Given the description of an element on the screen output the (x, y) to click on. 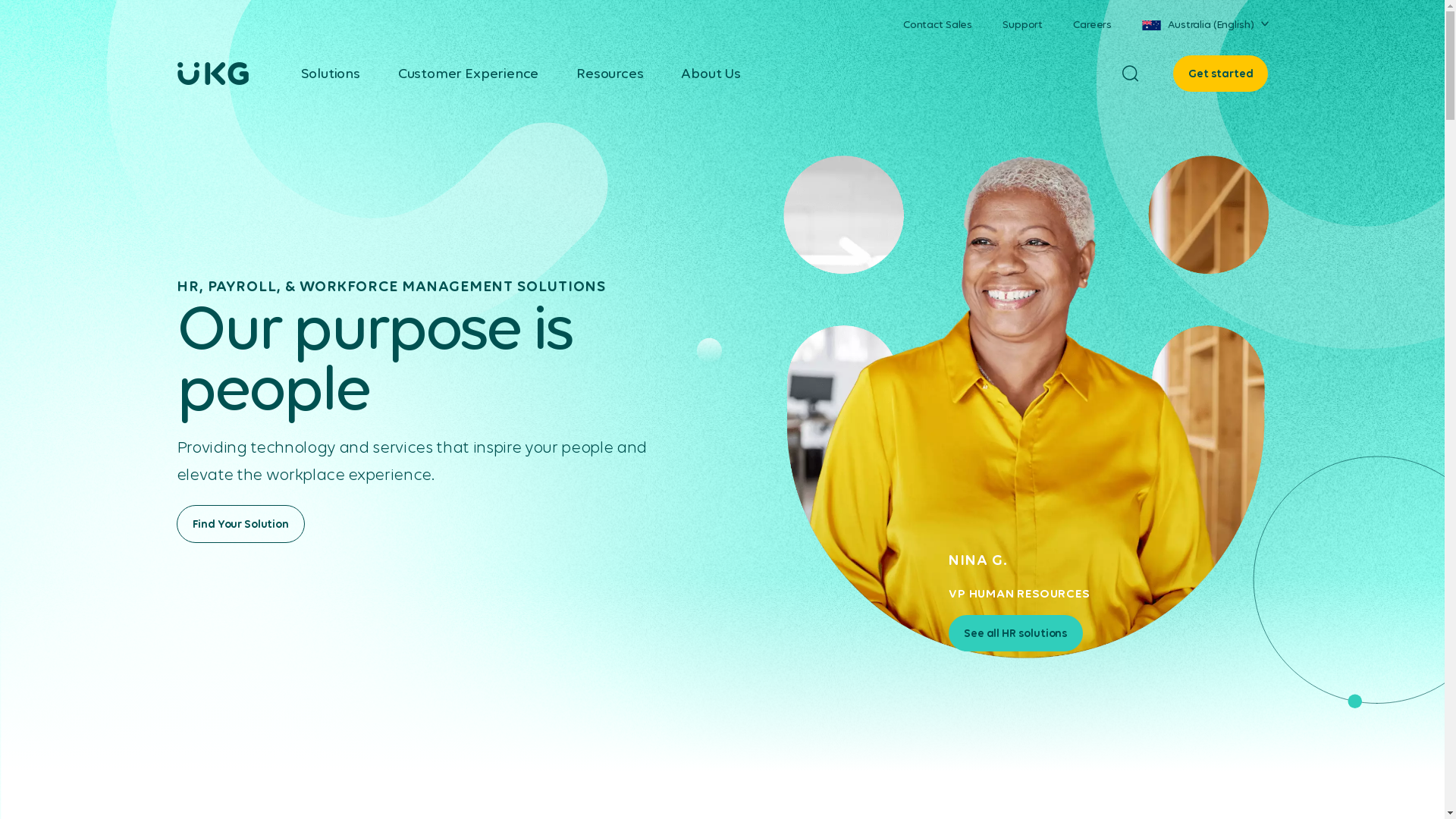
Search Element type: text (1130, 73)
Customer Experience Element type: text (467, 73)
Support Element type: text (1022, 24)
Solutions Element type: text (329, 73)
Contact Sales Element type: text (937, 24)
Australia (English) Element type: text (1204, 24)
Get started Element type: text (1220, 73)
Skip to main content Element type: text (0, 0)
Resources Element type: text (609, 73)
Careers Element type: text (1092, 24)
About Us Element type: text (710, 73)
See all HR solutions Element type: text (1015, 633)
Find Your Solution Element type: text (239, 523)
